Given the description of an element on the screen output the (x, y) to click on. 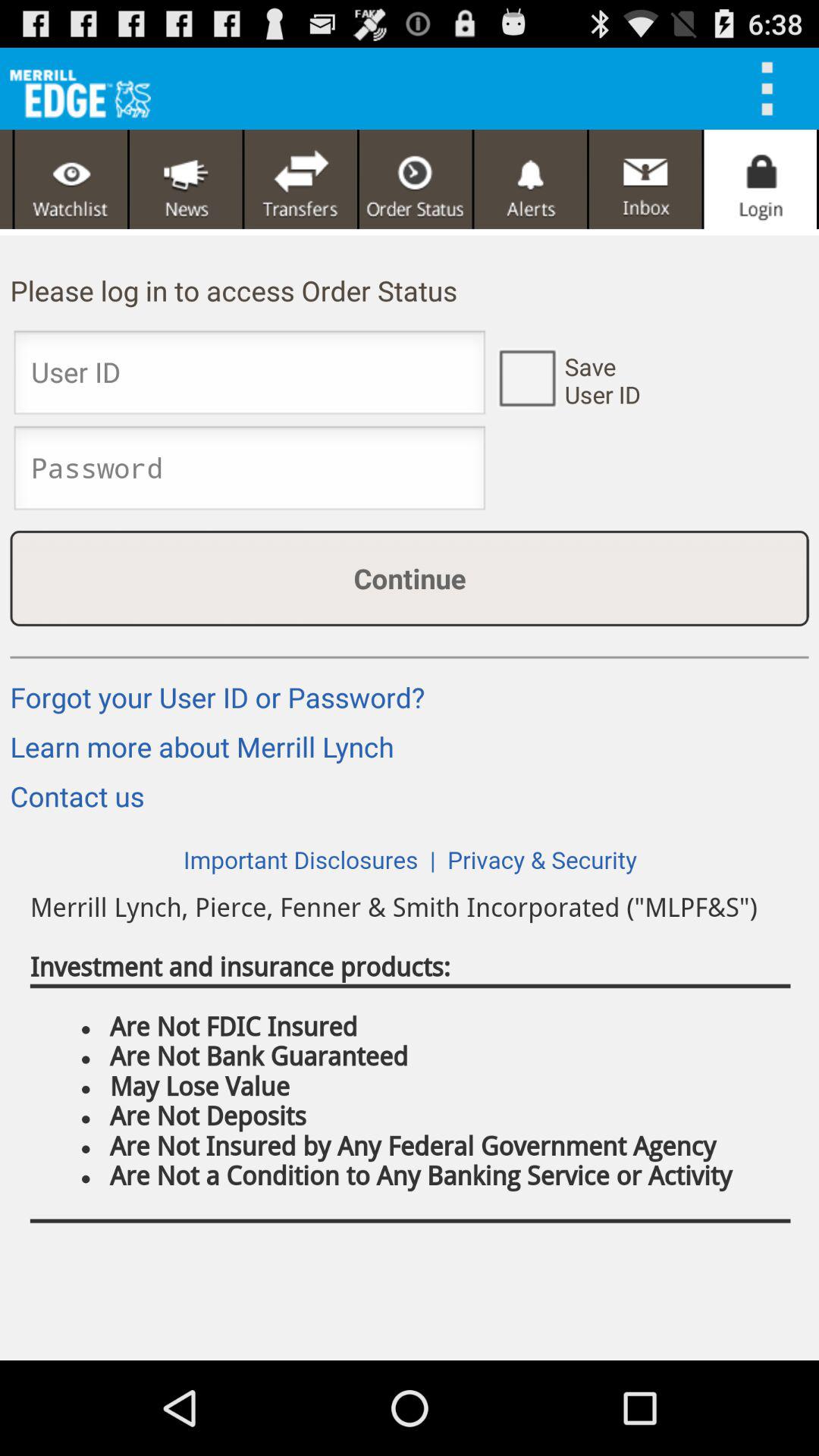
login screen (760, 179)
